Given the description of an element on the screen output the (x, y) to click on. 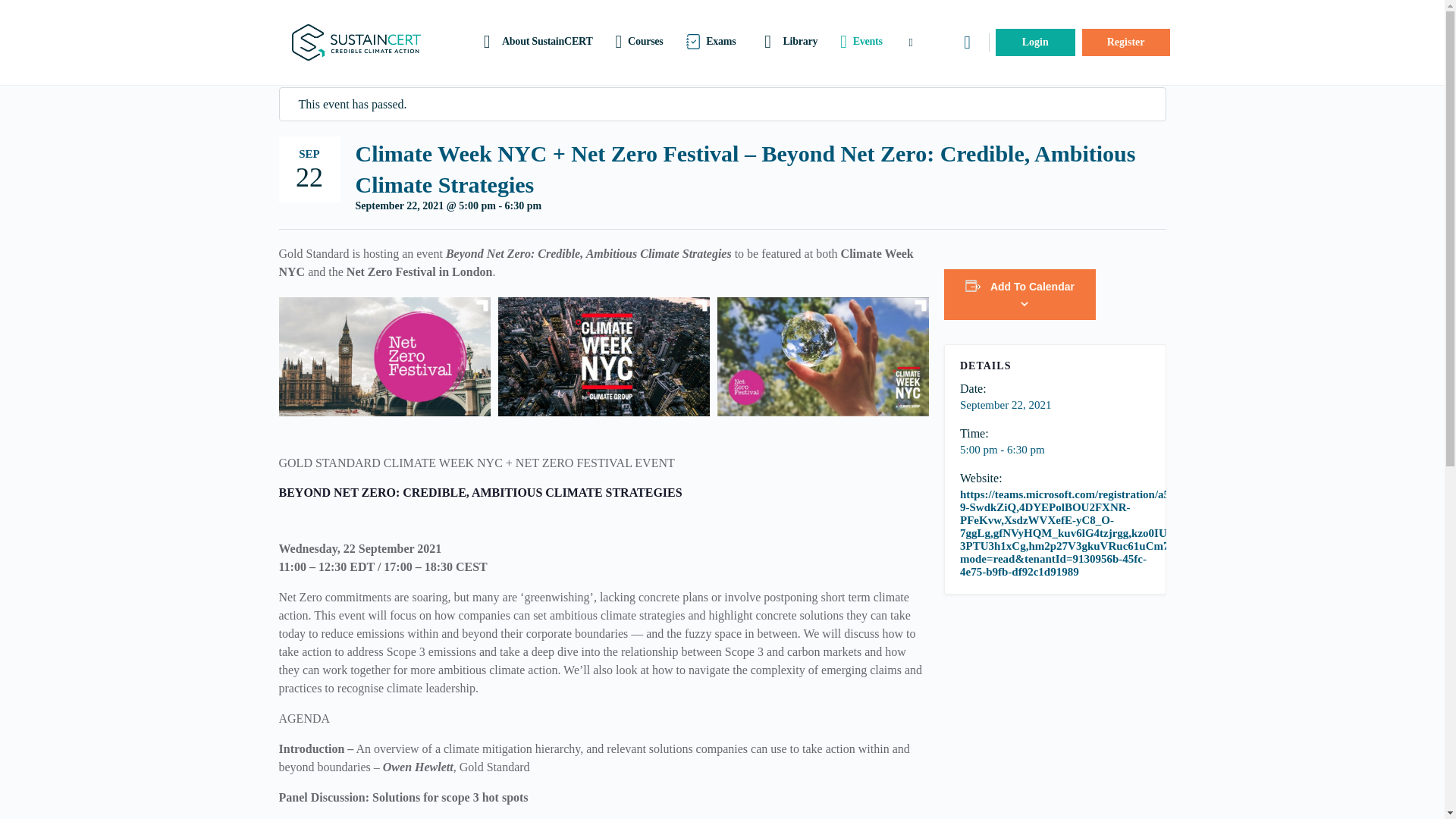
Login (1035, 42)
Events (860, 42)
Exams (711, 42)
Courses (638, 42)
Add To Calendar (1032, 286)
2021-09-22 (1005, 404)
Library (788, 42)
Register (1125, 42)
About SustainCERT (534, 42)
2021-09-22 (1054, 449)
